Given the description of an element on the screen output the (x, y) to click on. 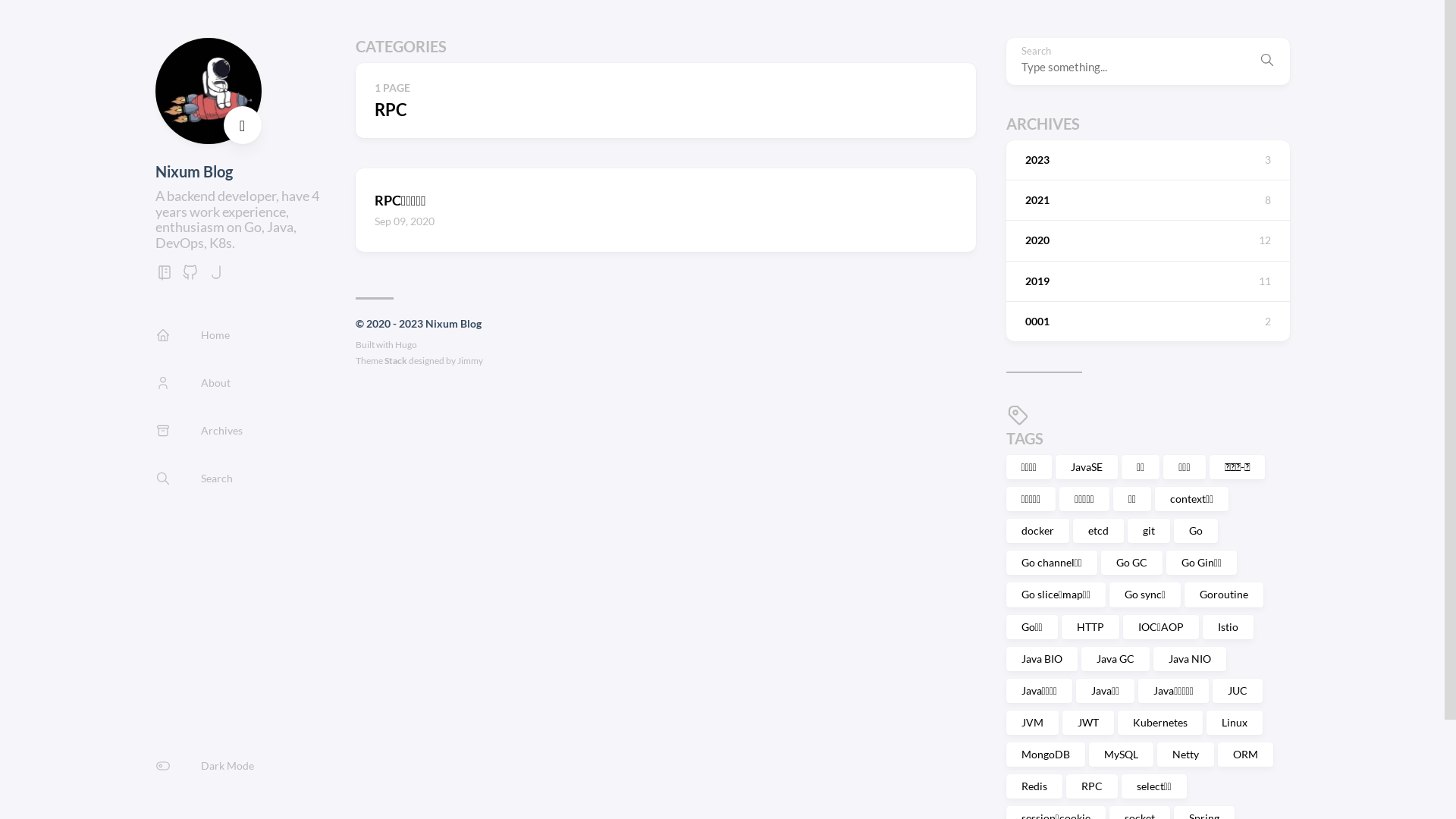
JavaSE Element type: text (1086, 467)
JWT Element type: text (1087, 722)
Istio Element type: text (1227, 627)
Jimmy Element type: text (470, 360)
Kubernetes Element type: text (1159, 722)
jike Element type: hover (215, 276)
HTTP Element type: text (1090, 627)
Nixum Blog Element type: text (193, 171)
About Element type: text (191, 382)
RPC Element type: text (1091, 786)
JUC Element type: text (1237, 690)
JVM Element type: text (1031, 722)
Search Element type: text (193, 477)
Java GC Element type: text (1115, 658)
Goroutine Element type: text (1223, 594)
gitbook Element type: hover (163, 276)
Netty Element type: text (1185, 754)
2023
3 Element type: text (1147, 159)
Hugo Element type: text (406, 344)
ORM Element type: text (1245, 754)
2021
8 Element type: text (1147, 199)
Search Element type: hover (1266, 60)
Linux Element type: text (1233, 722)
2019
11 Element type: text (1147, 281)
MongoDB Element type: text (1044, 754)
Java BIO Element type: text (1040, 658)
0001
2 Element type: text (1147, 321)
Home Element type: text (191, 334)
Archives Element type: text (197, 430)
GitHub Element type: hover (189, 276)
Java NIO Element type: text (1188, 658)
docker Element type: text (1036, 530)
2020
12 Element type: text (1147, 240)
Redis Element type: text (1033, 786)
Go GC Element type: text (1131, 562)
Go Element type: text (1195, 530)
etcd Element type: text (1097, 530)
git Element type: text (1147, 530)
MySQL Element type: text (1120, 754)
Stack Element type: text (395, 360)
